Given the description of an element on the screen output the (x, y) to click on. 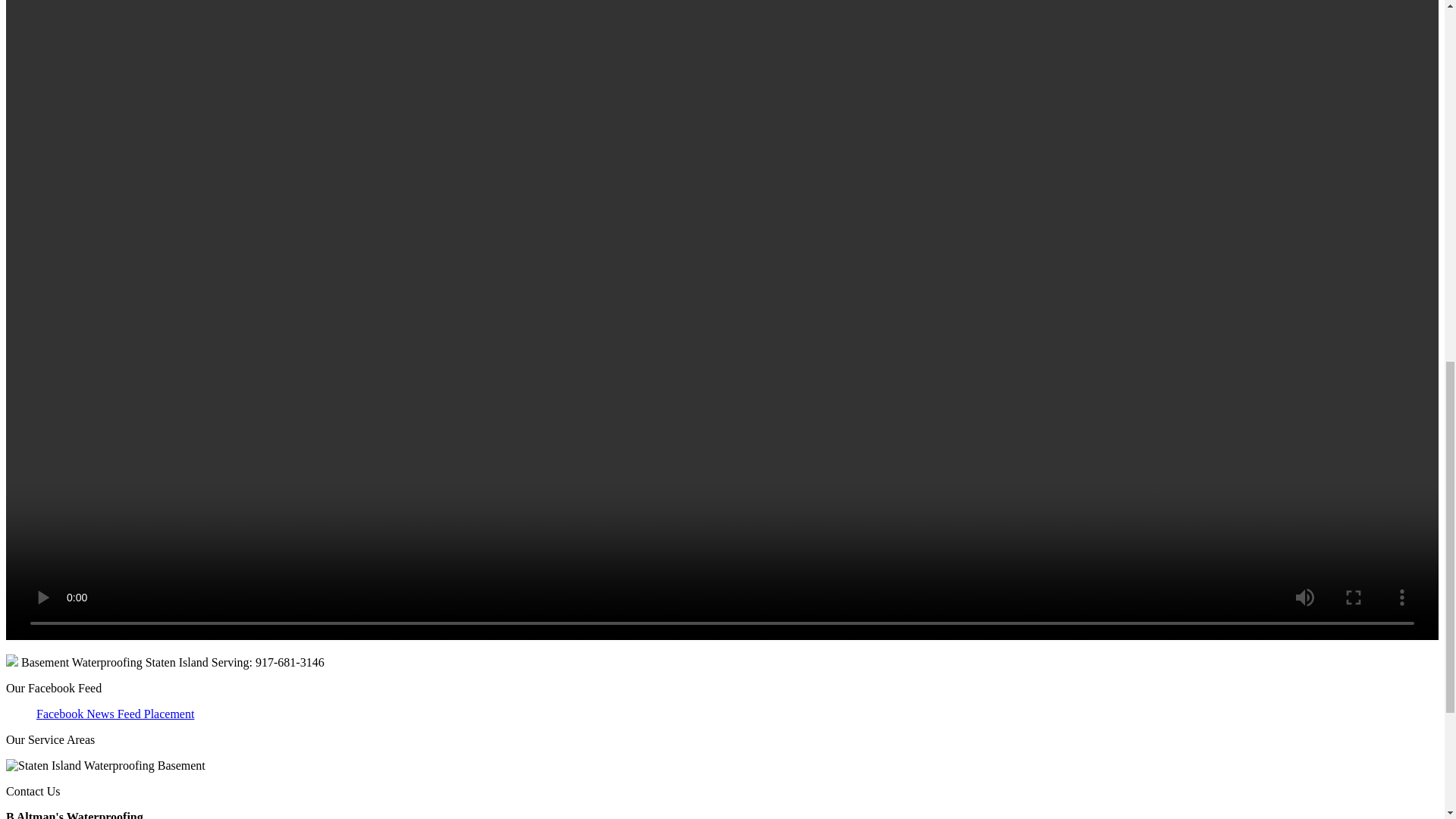
Facebook News Feed Placement (114, 713)
